Given the description of an element on the screen output the (x, y) to click on. 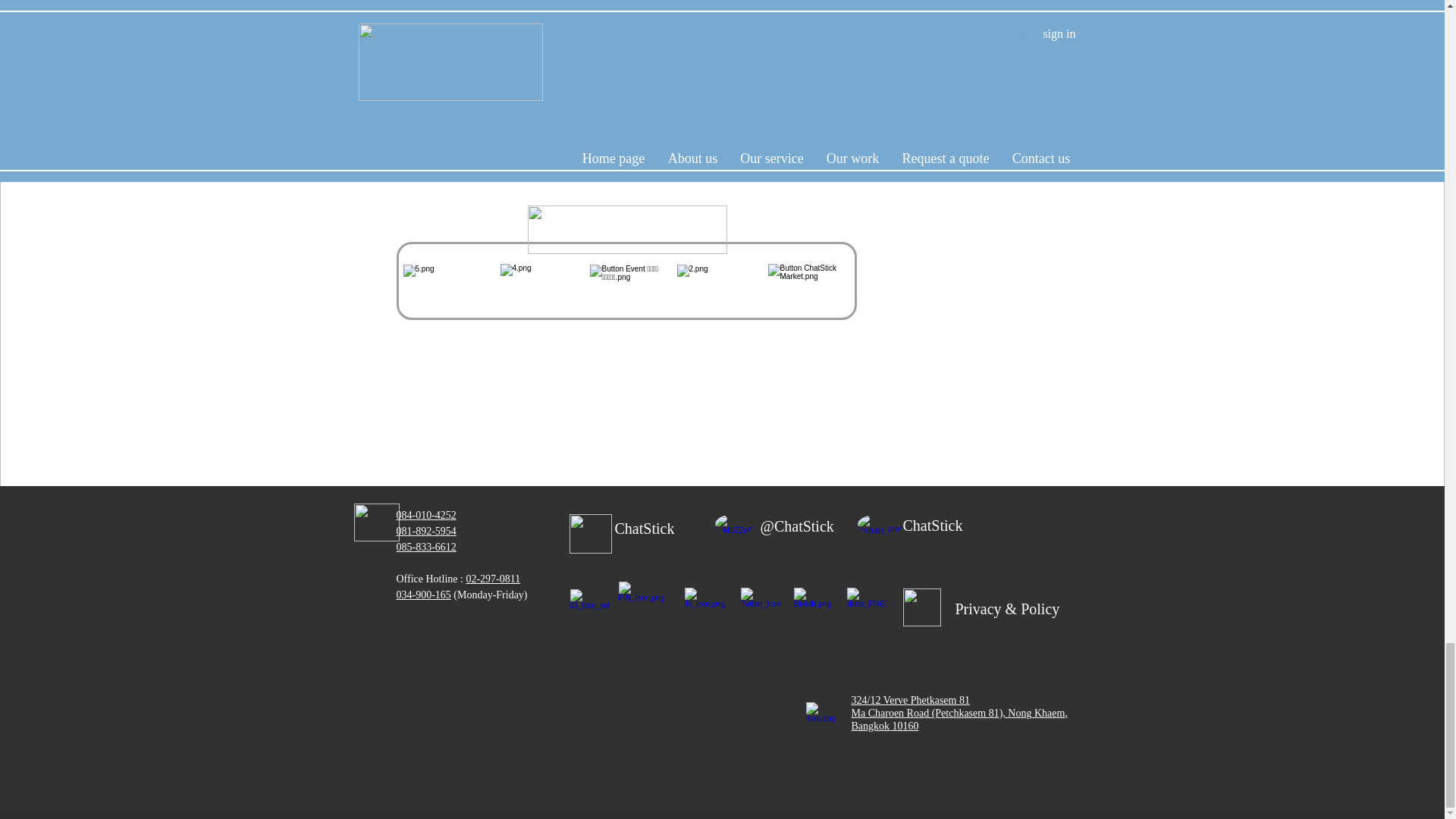
Privacy.png (921, 607)
Facebook-icon.png (865, 607)
Facebook-icon.png (759, 607)
Facebook-icon.png (705, 607)
Facebook-icon.png (814, 607)
Facebook-icon.png (590, 606)
Facebook-icon.png (644, 607)
Facebook-icon.png (590, 533)
